Given the description of an element on the screen output the (x, y) to click on. 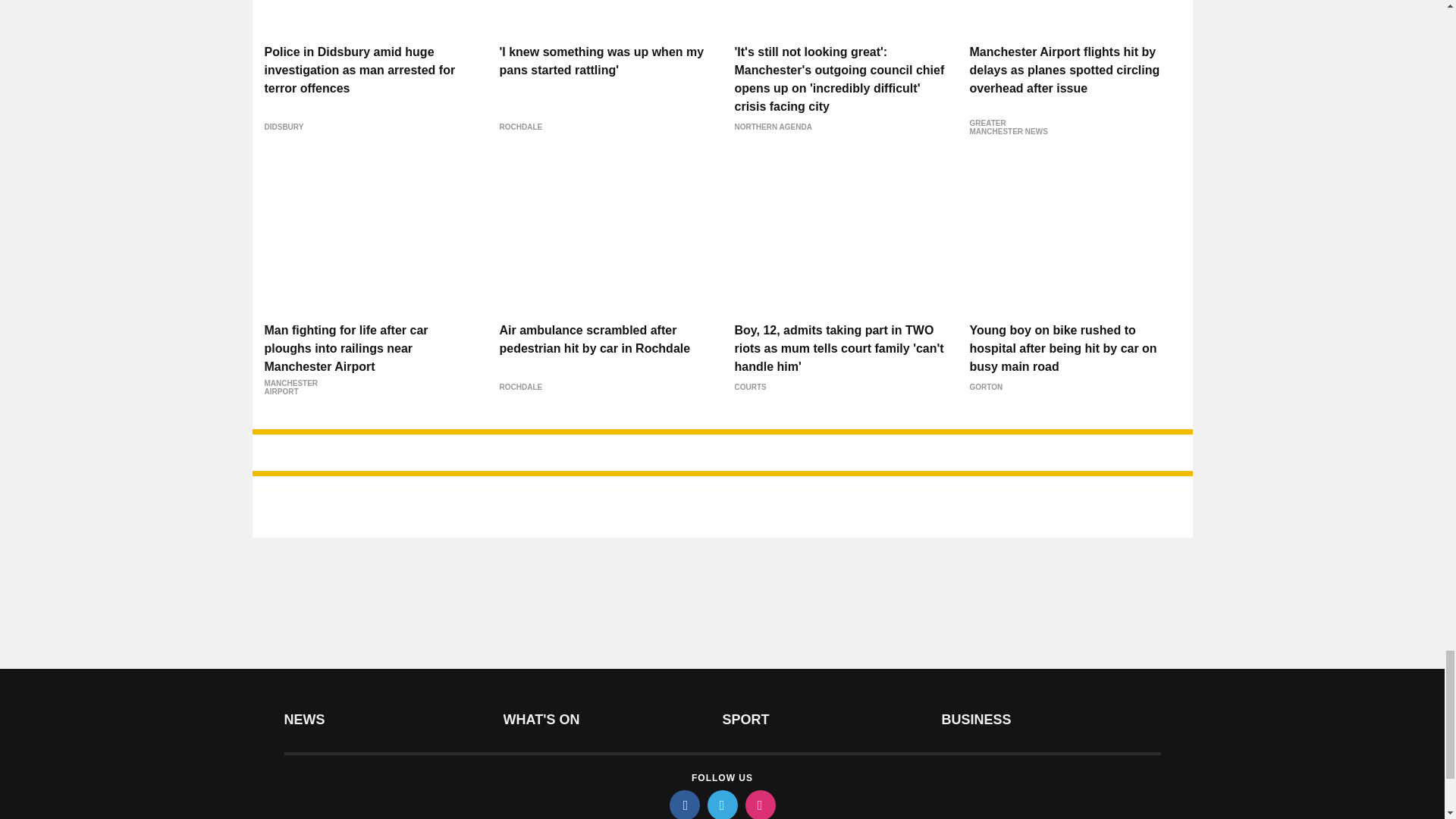
facebook (683, 804)
instagram (759, 804)
twitter (721, 804)
